Given the description of an element on the screen output the (x, y) to click on. 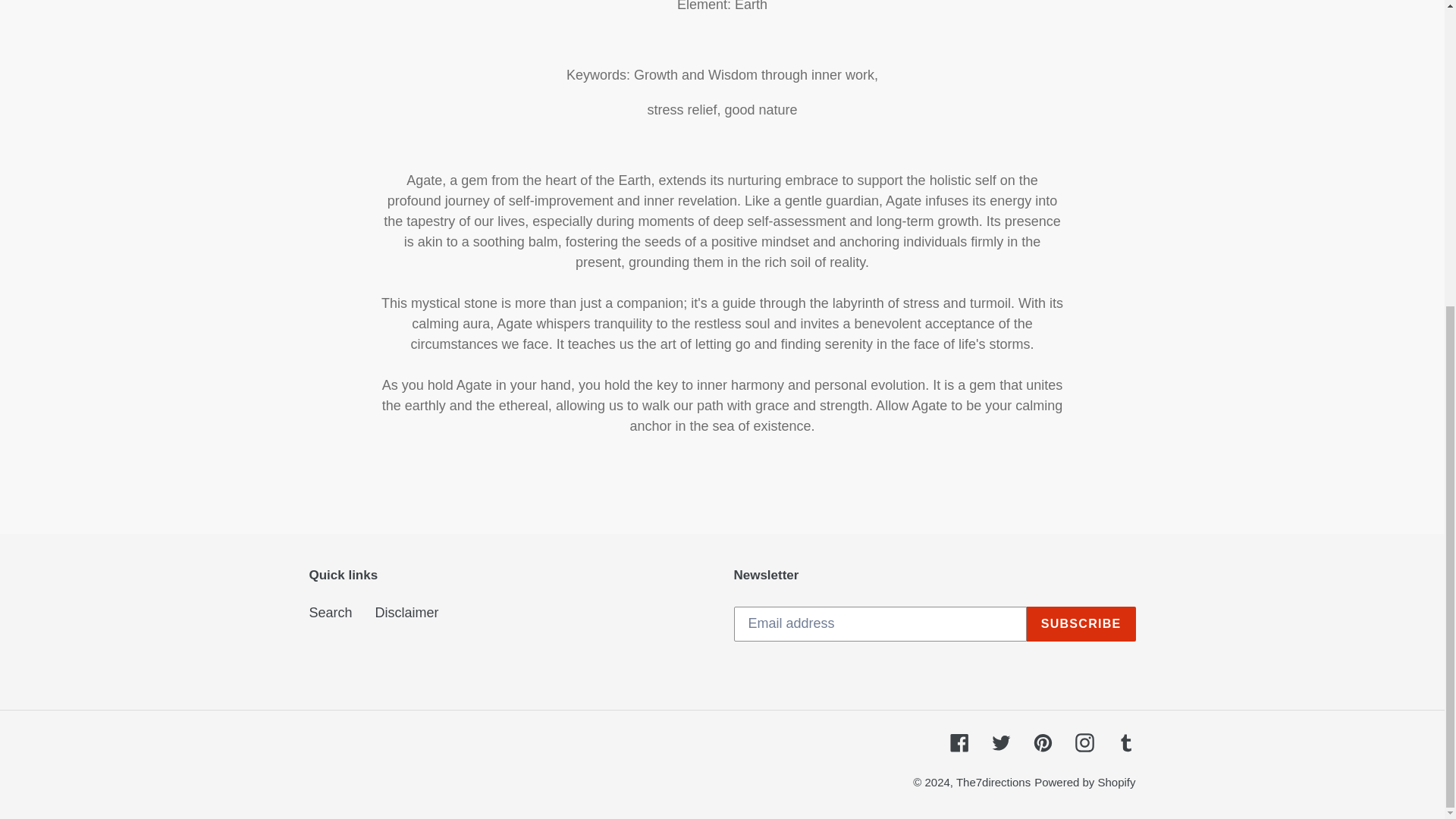
The7directions (993, 781)
Twitter (1000, 742)
Pinterest (1041, 742)
Instagram (1084, 742)
Facebook (958, 742)
SUBSCRIBE (1080, 623)
Tumblr (1125, 742)
Search (330, 612)
Powered by Shopify (1084, 781)
Disclaimer (407, 612)
